Given the description of an element on the screen output the (x, y) to click on. 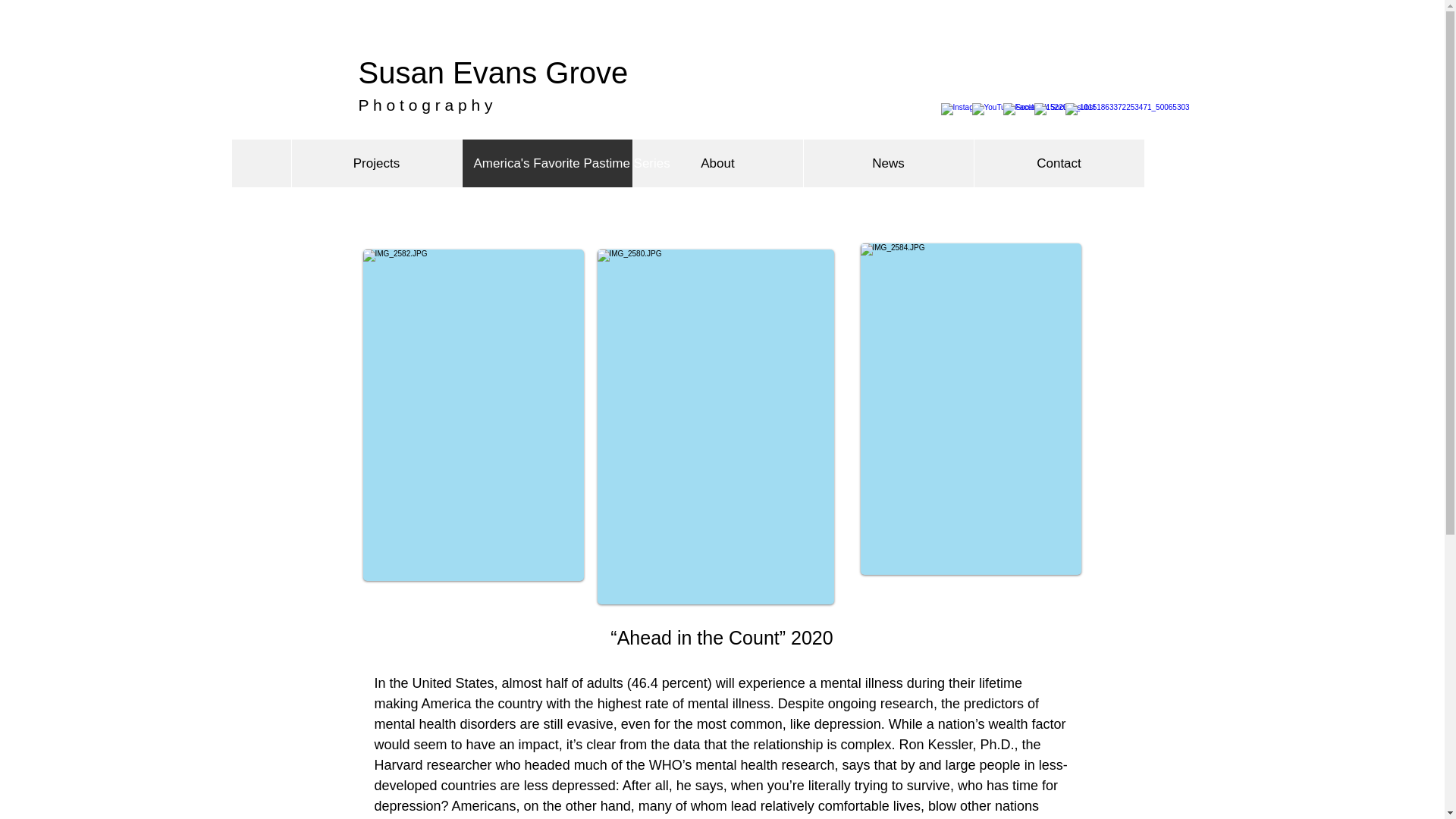
America's Favorite Pastime Series (546, 163)
Projects (376, 163)
About (717, 163)
News (887, 163)
Contact (1059, 163)
